Given the description of an element on the screen output the (x, y) to click on. 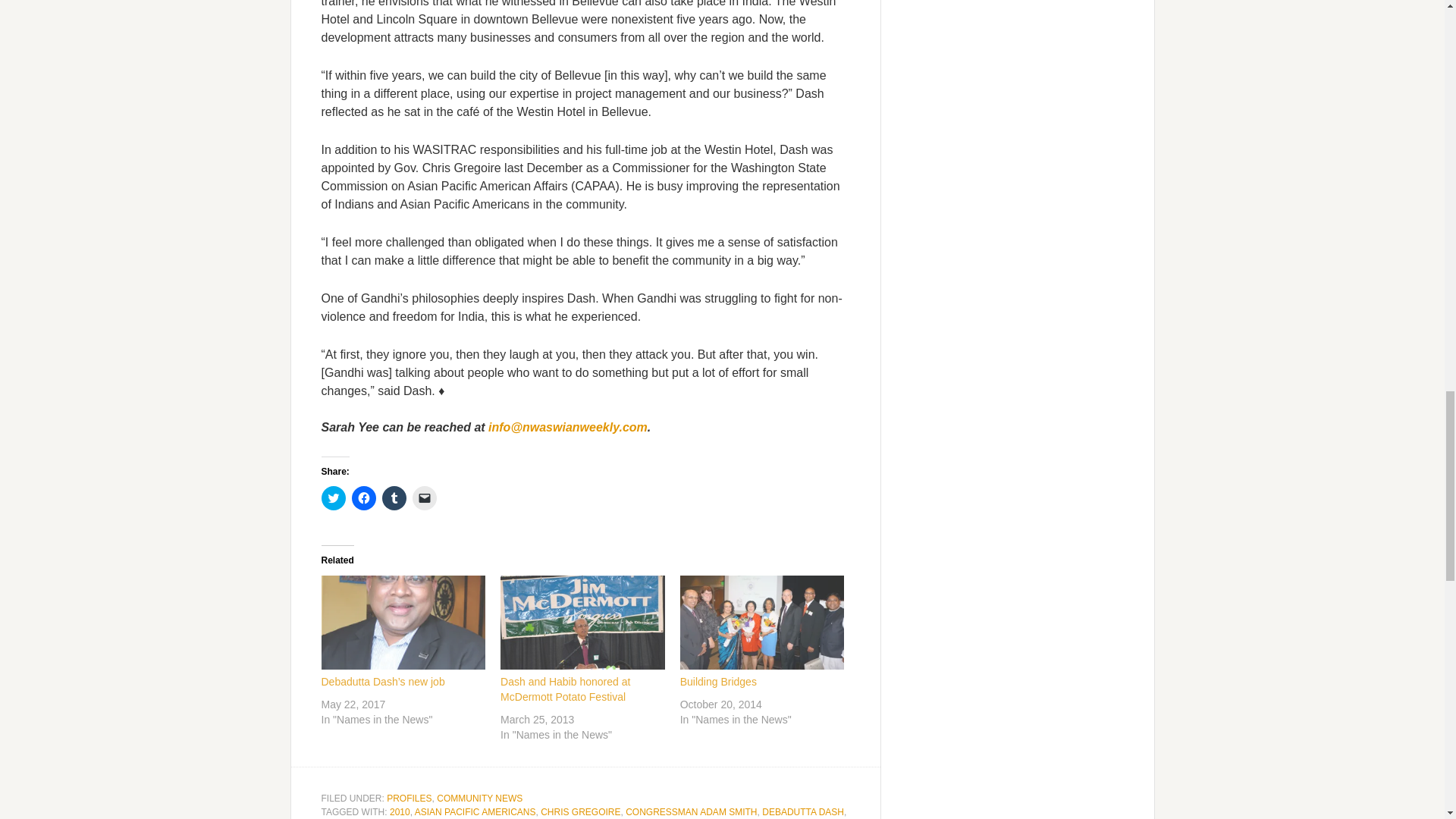
Click to share on Twitter (333, 498)
Click to share on Facebook (363, 498)
Dash and Habib honored at McDermott Potato Festival (582, 622)
Click to share on Tumblr (393, 498)
Click to email a link to a friend (424, 498)
Building Bridges (718, 680)
Building Bridges (761, 622)
Dash and Habib honored at McDermott Potato Festival (565, 687)
